Given the description of an element on the screen output the (x, y) to click on. 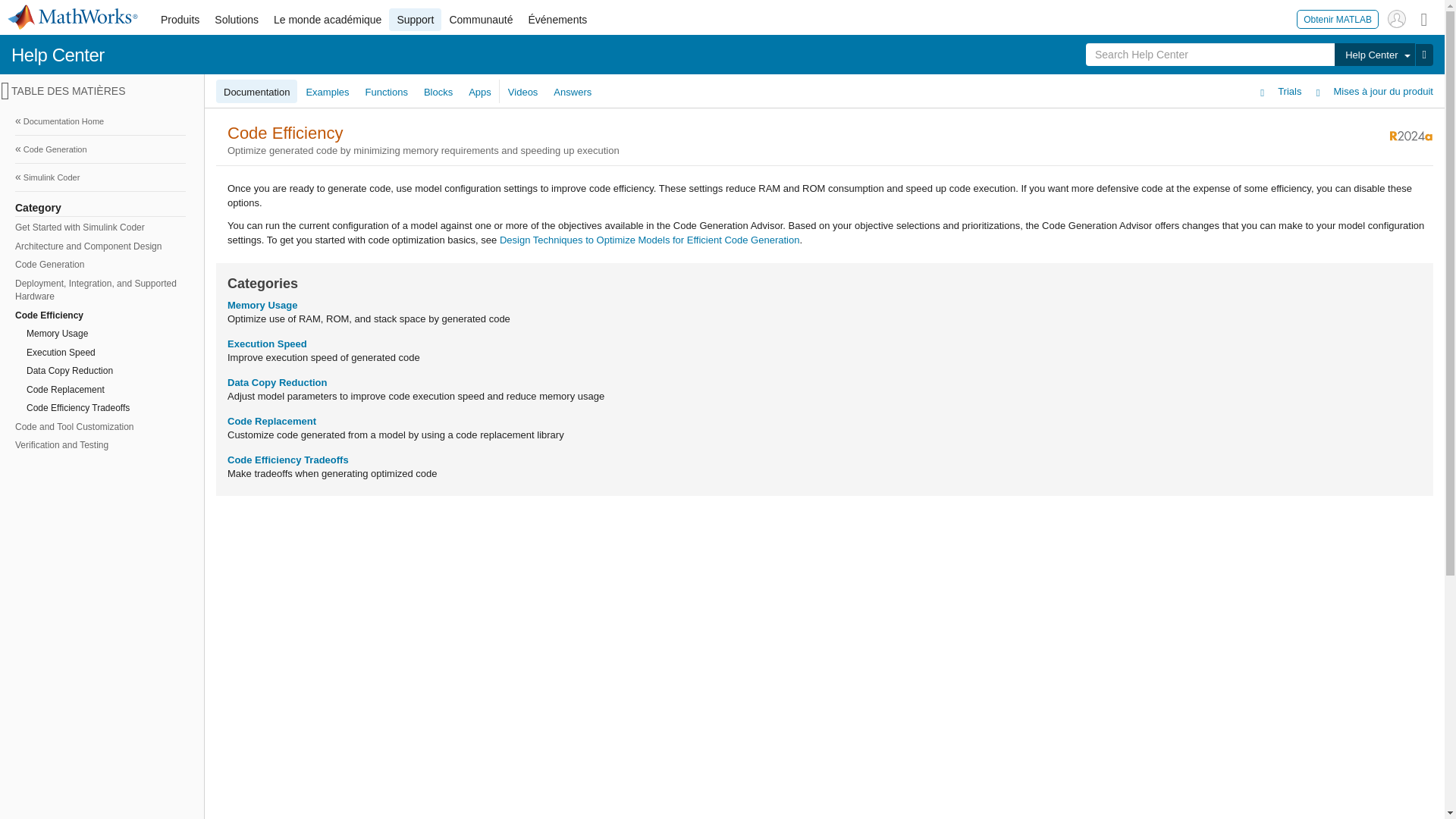
Produits (179, 19)
Solutions (236, 19)
Support (414, 19)
Se connecter (1396, 18)
Obtenir MATLAB (1337, 18)
Matrix Menu (1423, 18)
